Given the description of an element on the screen output the (x, y) to click on. 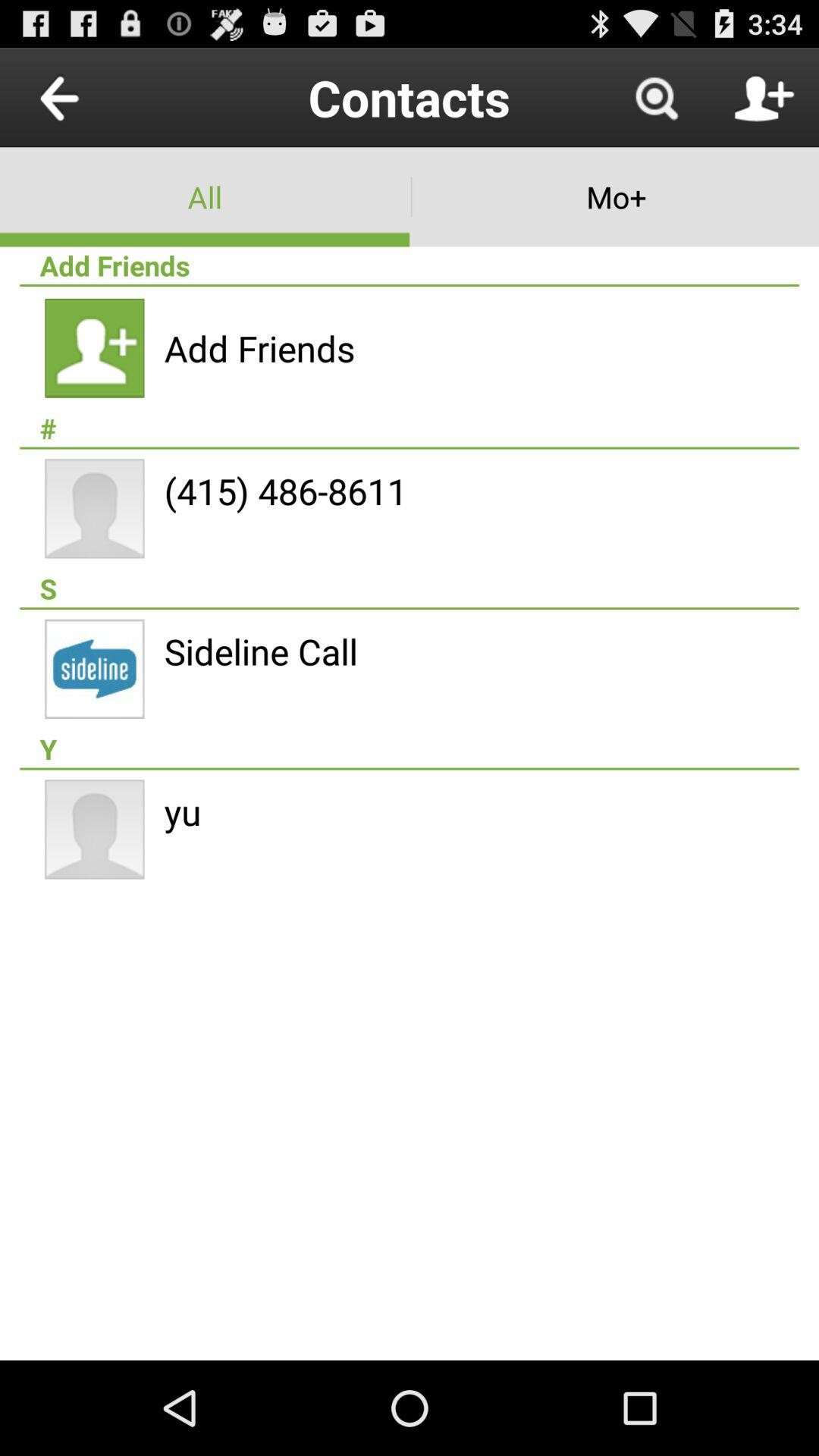
press item to the right of contacts (655, 97)
